Given the description of an element on the screen output the (x, y) to click on. 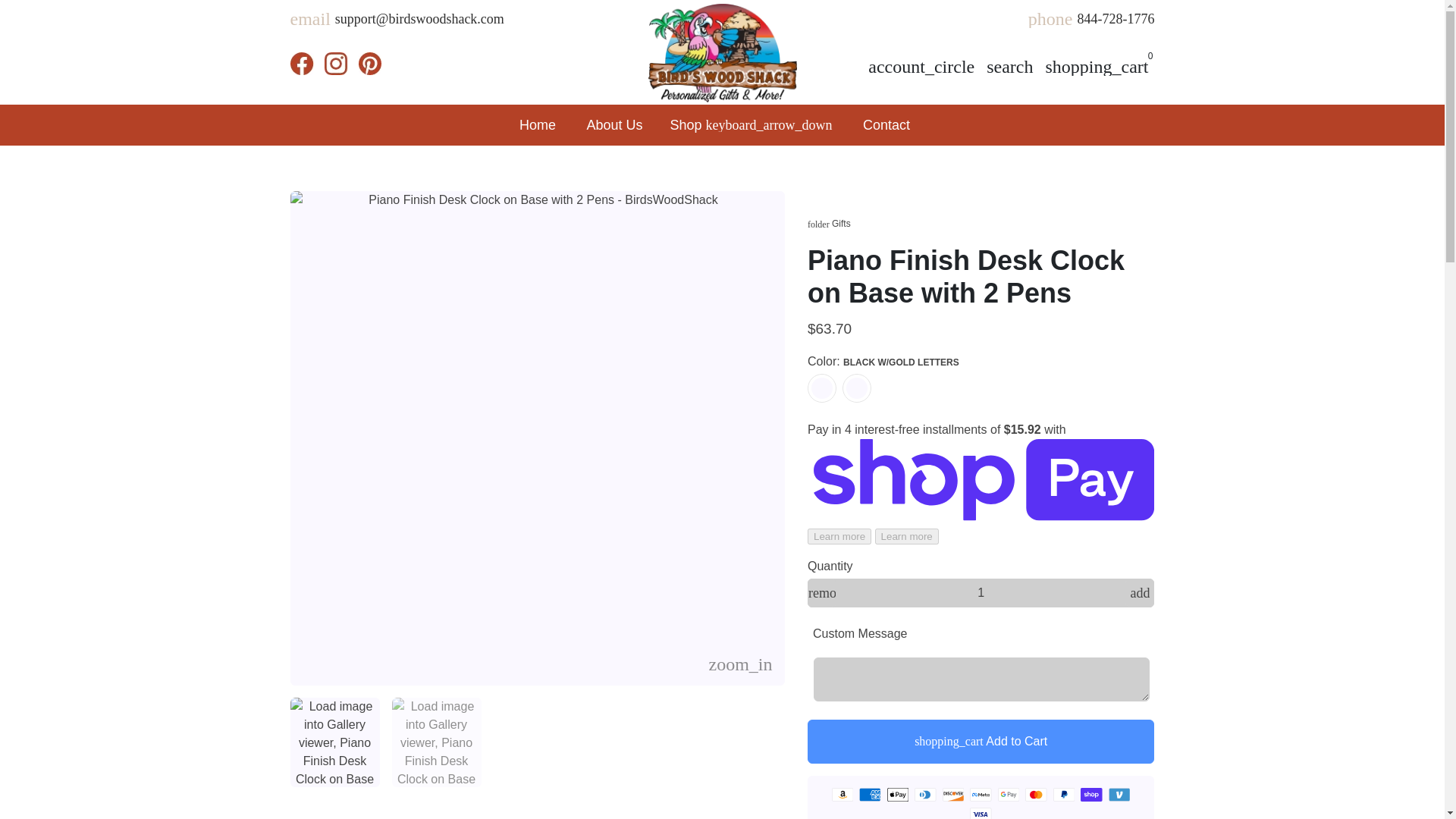
Apple Pay (897, 794)
Instagram (335, 63)
phone 844-728-1776 (1090, 24)
PayPal (1063, 794)
Home (537, 125)
Meta Pay (980, 794)
Mastercard (1035, 794)
search (1009, 66)
Shop Pay (1091, 794)
